Given the description of an element on the screen output the (x, y) to click on. 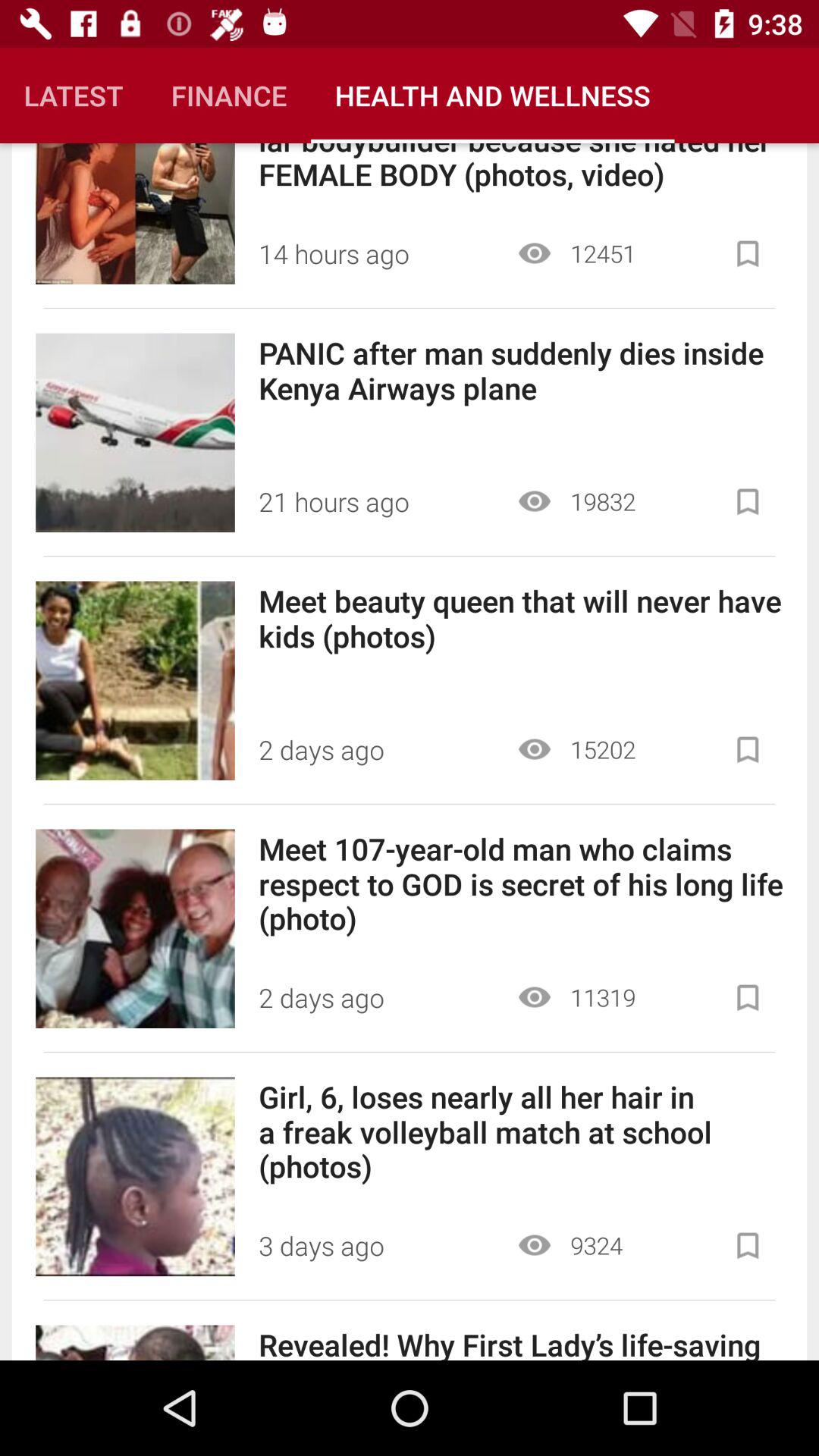
comments (747, 1245)
